Given the description of an element on the screen output the (x, y) to click on. 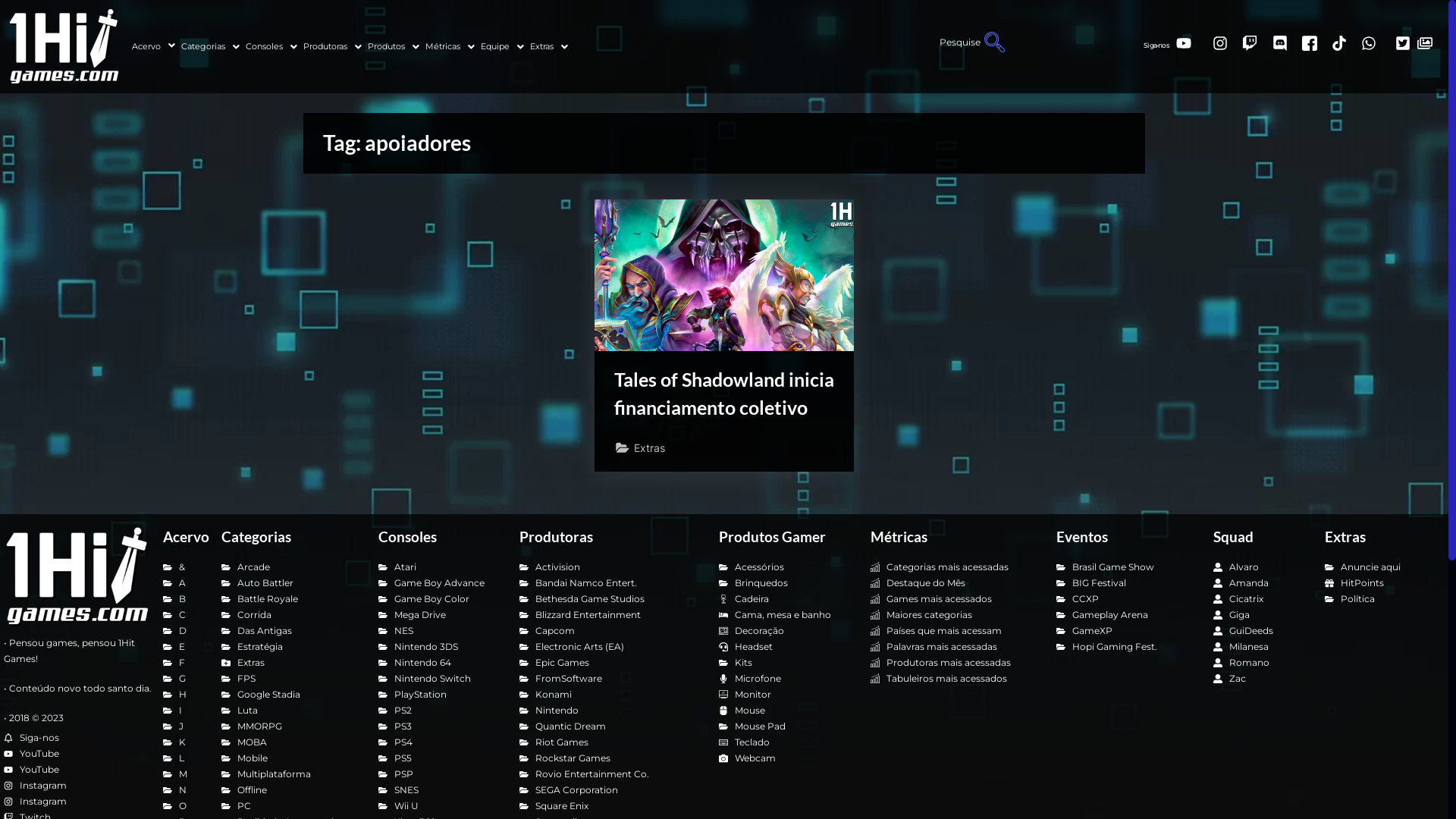
Milanesa Element type: text (1261, 646)
E Element type: text (184, 646)
Kits Element type: text (787, 662)
Categorias Element type: text (210, 46)
Headset Element type: text (787, 646)
F Element type: text (184, 662)
SEGA Corporation Element type: text (611, 789)
Produtoras Element type: text (332, 46)
BIG Festival Element type: text (1127, 582)
Corrida Element type: text (292, 614)
L Element type: text (184, 757)
K Element type: text (184, 741)
Quantic Dream Element type: text (611, 726)
YouTube Element type: text (77, 753)
MOBA Element type: text (292, 741)
Mega Drive Element type: text (441, 614)
Cadeira Element type: text (787, 598)
FPS Element type: text (292, 678)
Cama, mesa e banho Element type: text (787, 614)
Games mais acessados Element type: text (955, 598)
Consoles Element type: text (271, 46)
Categorias mais acessadas Element type: text (955, 566)
PlayStation Element type: text (441, 694)
Das Antigas Element type: text (292, 630)
Multiplataforma Element type: text (292, 773)
Wii U Element type: text (441, 805)
PC Element type: text (292, 805)
Konami Element type: text (611, 694)
Offline Element type: text (292, 789)
D Element type: text (184, 630)
Capcom Element type: text (611, 630)
Extras Element type: text (549, 46)
Square Enix Element type: text (611, 805)
Arcade Element type: text (292, 566)
Electronic Arts (EA) Element type: text (611, 646)
C Element type: text (184, 614)
Webcam Element type: text (787, 757)
Tales of Shadowland inicia financiamento coletivo Element type: text (724, 393)
Riot Games Element type: text (611, 741)
Brinquedos Element type: text (787, 582)
MMORPG Element type: text (292, 726)
Mobile Element type: text (292, 757)
Epic Games Element type: text (611, 662)
Google Stadia Element type: text (292, 694)
PSP Element type: text (441, 773)
Battle Royale Element type: text (292, 598)
FromSoftware Element type: text (611, 678)
Nintendo 64 Element type: text (441, 662)
Nintendo 3DS Element type: text (441, 646)
Produtos Gamer Element type: text (771, 536)
Atari Element type: text (441, 566)
NES Element type: text (441, 630)
O Element type: text (184, 805)
Instagram Element type: text (77, 785)
Teclado Element type: text (787, 741)
Extras Element type: text (1344, 536)
Produtos Element type: text (393, 46)
PS5 Element type: text (441, 757)
Categorias Element type: text (256, 536)
Bandai Namco Entert. Element type: text (611, 582)
Game Boy Color Element type: text (441, 598)
I Element type: text (184, 710)
Squad Element type: text (1233, 536)
A Element type: text (184, 582)
YouTube Element type: text (77, 769)
B Element type: text (184, 598)
Mouse Pad Element type: text (787, 726)
Blizzard Entertainment Element type: text (611, 614)
Nintendo Switch Element type: text (441, 678)
Microfone Element type: text (787, 678)
Acervo Element type: text (186, 536)
N Element type: text (184, 789)
J Element type: text (184, 726)
Rockstar Games Element type: text (611, 757)
Produtoras Element type: text (556, 536)
Acervo Element type: text (153, 45)
Anuncie aqui Element type: text (1382, 566)
Bethesda Game Studios Element type: text (611, 598)
Monitor Element type: text (787, 694)
M Element type: text (184, 773)
PS2 Element type: text (441, 710)
Alvaro Element type: text (1261, 566)
Extras Element type: text (292, 662)
SNES Element type: text (441, 789)
Activision Element type: text (611, 566)
Nintendo Element type: text (611, 710)
Equipe Element type: text (502, 46)
Luta Element type: text (292, 710)
Auto Battler Element type: text (292, 582)
Brasil Game Show Element type: text (1127, 566)
Produtoras mais acessadas Element type: text (955, 662)
H Element type: text (184, 694)
HitPoints Element type: text (1382, 582)
& Element type: text (184, 566)
Maiores categorias Element type: text (955, 614)
Game Boy Advance Element type: text (441, 582)
Amanda Element type: text (1261, 582)
Extras Element type: text (649, 447)
G Element type: text (184, 678)
Instagram Element type: text (77, 801)
PS4 Element type: text (441, 741)
Tabuleiros mais acessados Element type: text (955, 678)
Palavras mais acessadas Element type: text (955, 646)
Mouse Element type: text (787, 710)
Cicatrix Element type: text (1261, 598)
Consoles Element type: text (407, 536)
Rovio Entertainment Co. Element type: text (611, 773)
PS3 Element type: text (441, 726)
